Given the description of an element on the screen output the (x, y) to click on. 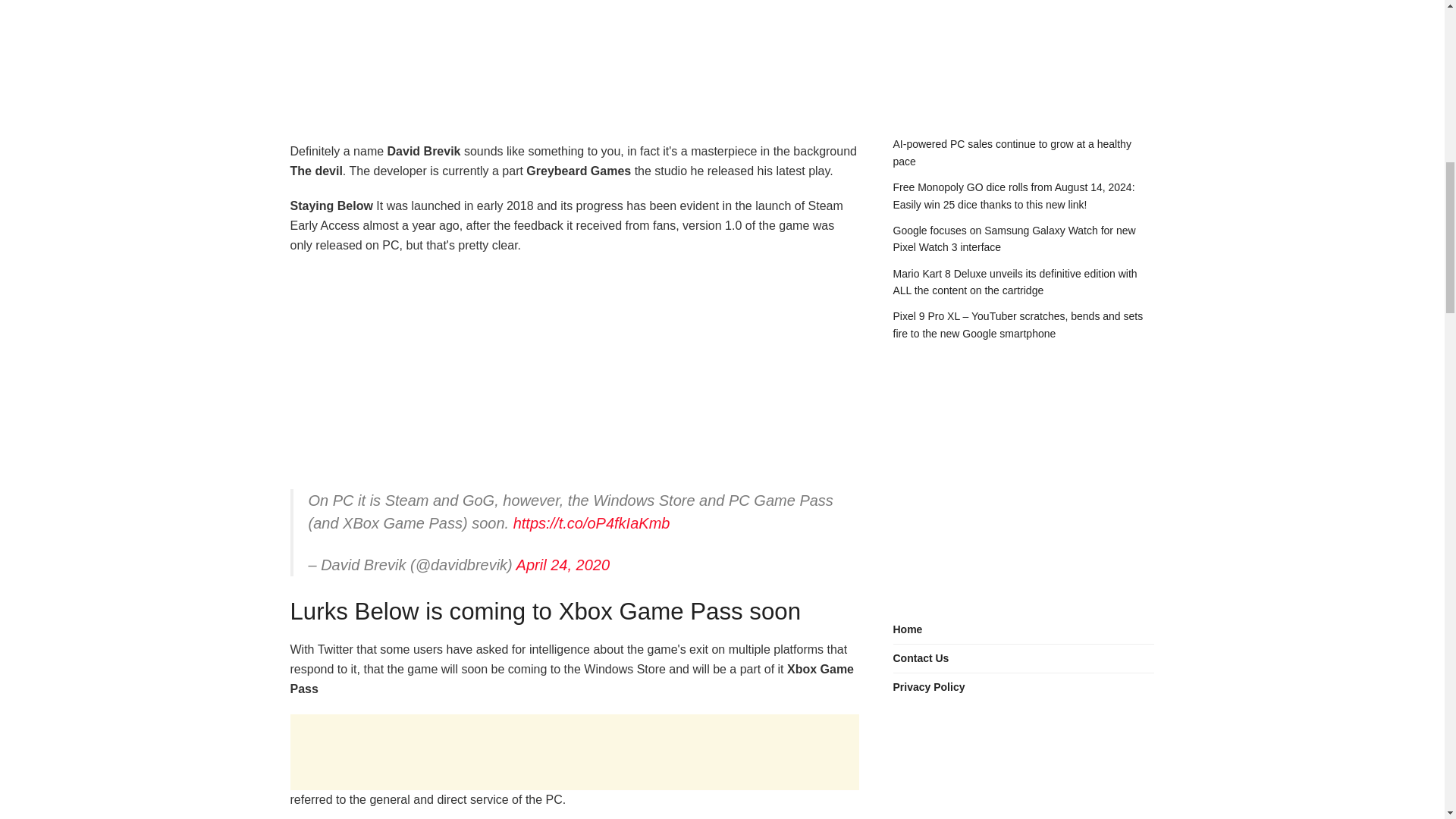
Advertisement (1023, 50)
Advertisement (574, 752)
Advertisement (1023, 478)
Advertisement (574, 50)
Advertisement (574, 377)
